Given the description of an element on the screen output the (x, y) to click on. 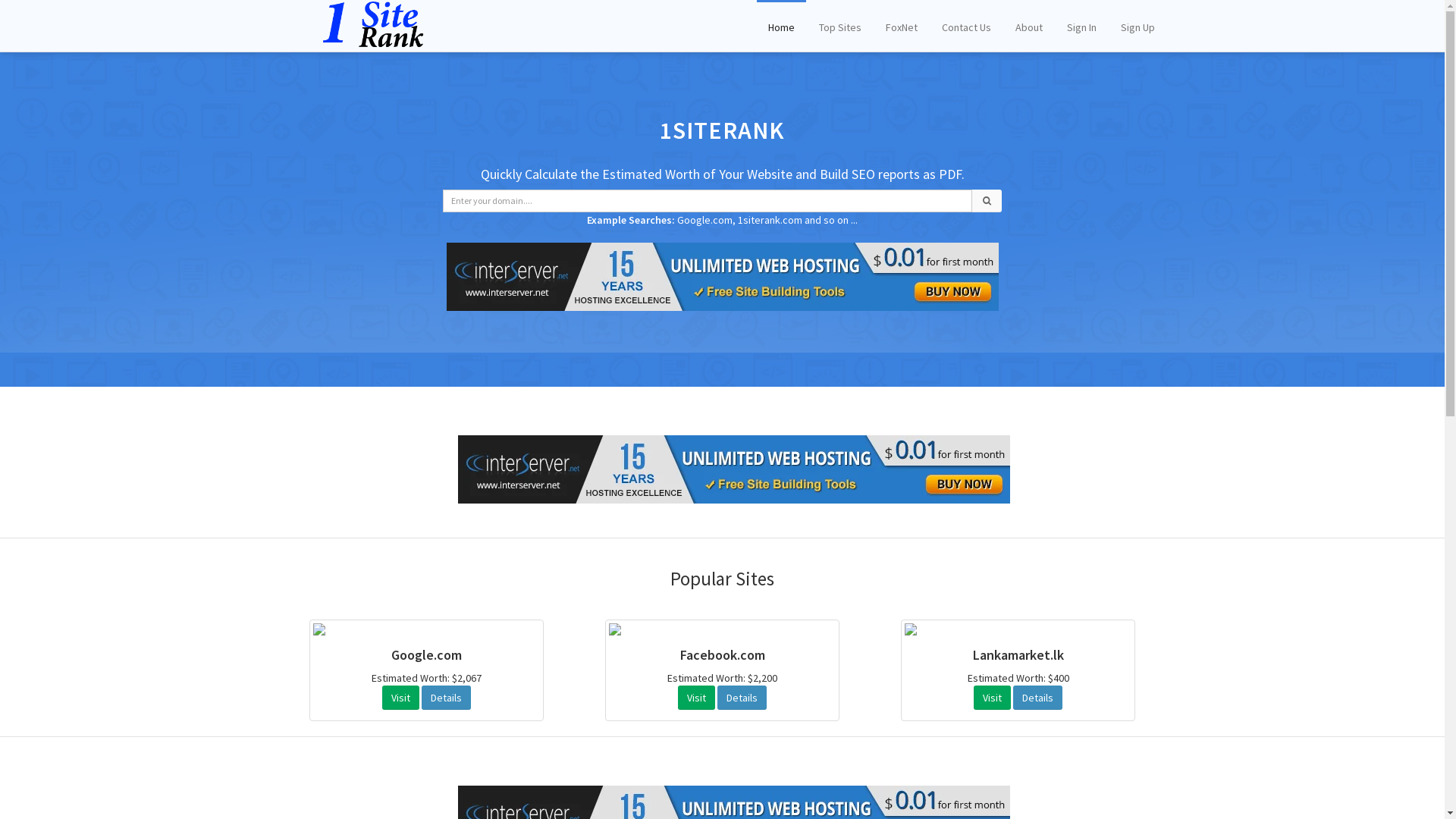
Contact Us Element type: text (965, 25)
Sign Up Element type: text (1136, 25)
Visit Element type: text (400, 697)
Top Sites Element type: text (839, 25)
Visit Element type: text (991, 697)
About Element type: text (1029, 25)
Google.com Element type: text (704, 219)
Details Element type: text (445, 697)
Details Element type: text (741, 697)
Visit Element type: text (696, 697)
Details Element type: text (1037, 697)
Sign In Element type: text (1081, 25)
Home Element type: text (781, 25)
FoxNet Element type: text (900, 25)
1siterank.com Element type: text (769, 219)
